Given the description of an element on the screen output the (x, y) to click on. 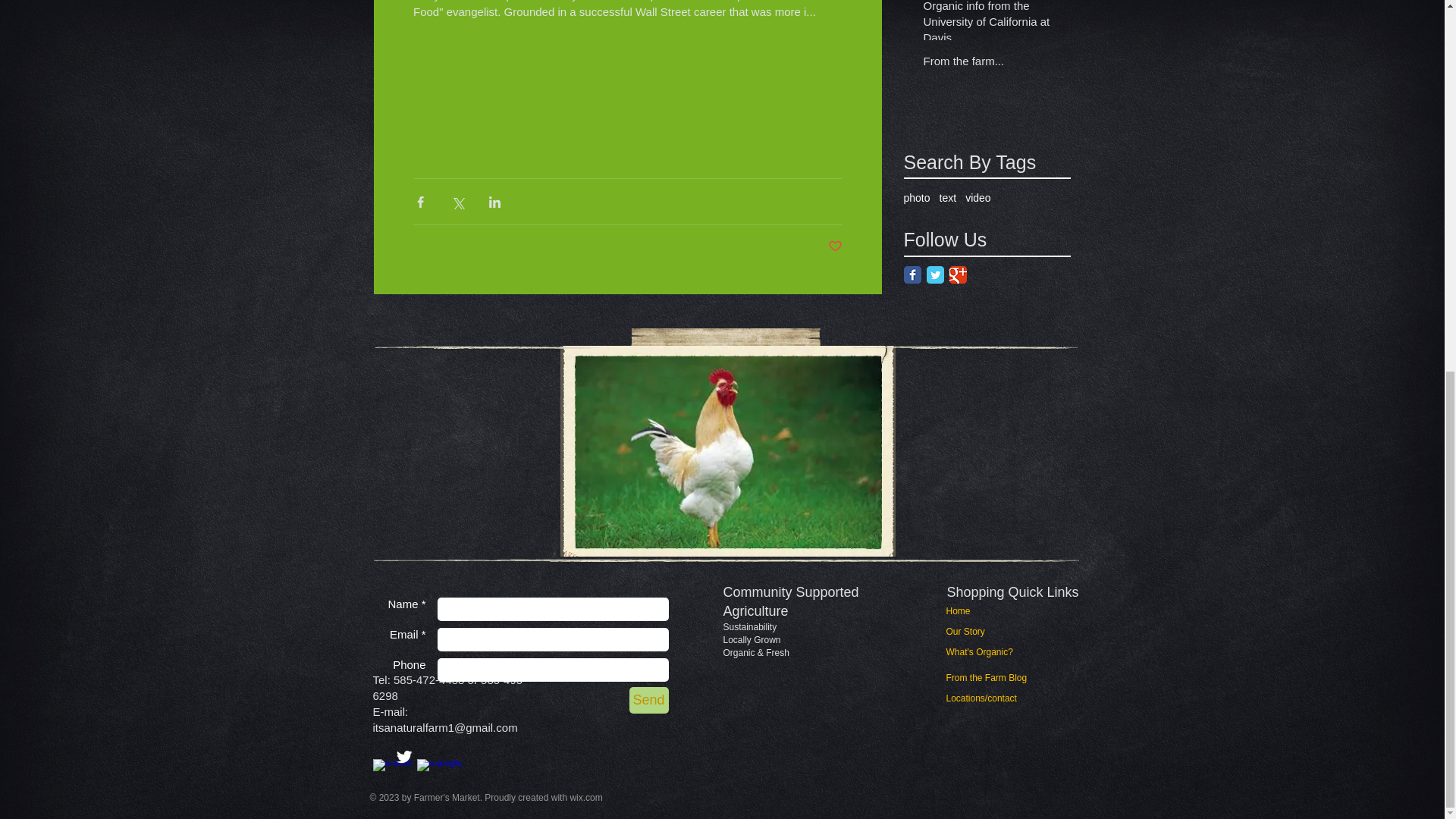
Post not marked as liked (835, 246)
Home (974, 611)
From the farm... (992, 64)
Our Story (974, 631)
text (947, 197)
Send (648, 700)
What's Organic? (986, 652)
Organic info from the University of California at Davis (992, 25)
From the Farm Blog (987, 677)
video (977, 197)
